Given the description of an element on the screen output the (x, y) to click on. 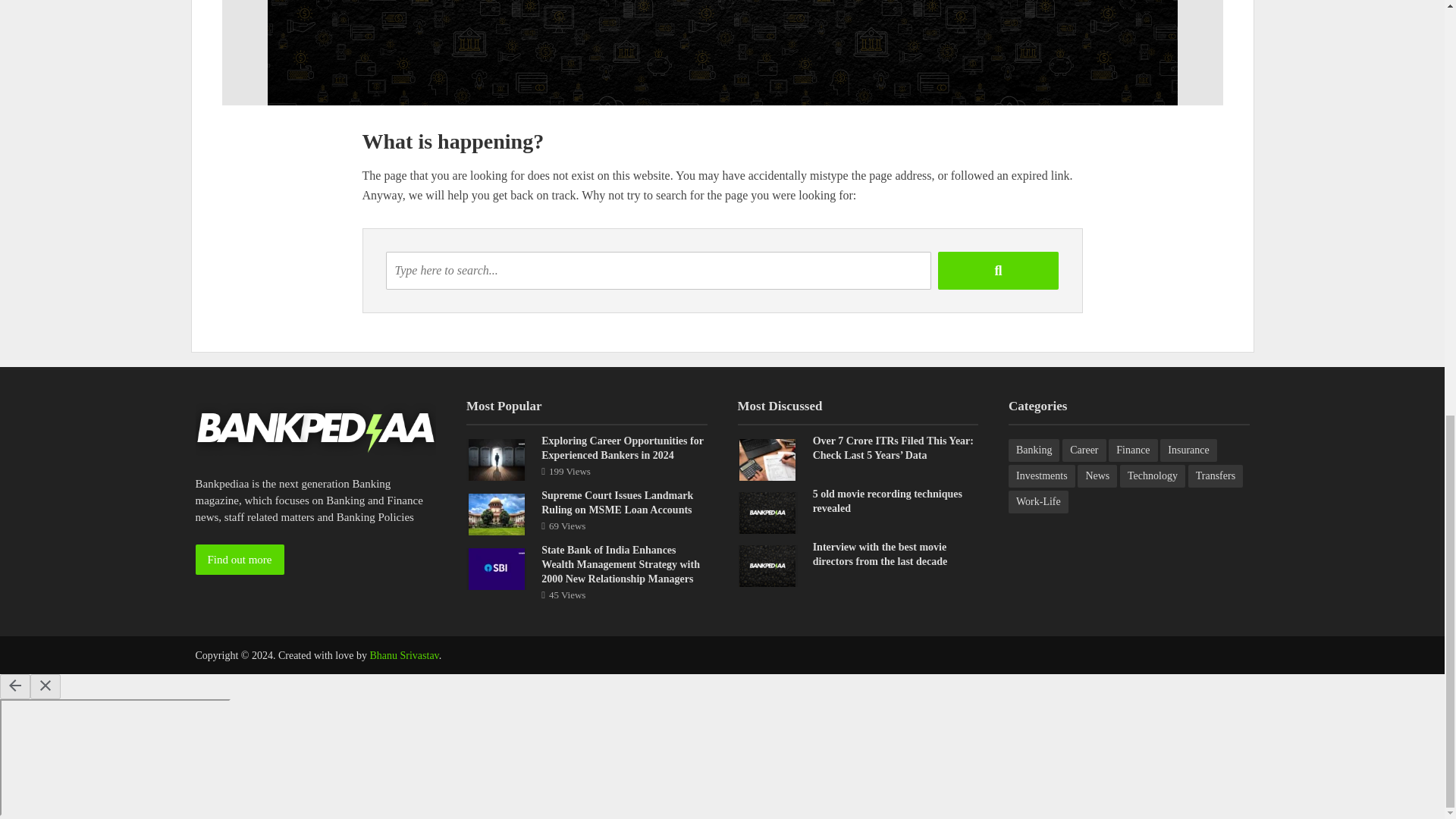
5 old movie recording techniques revealed (766, 511)
Supreme Court Issues Landmark Ruling on MSME Loan Accounts (496, 512)
Interview with the best movie directors from the last decade (766, 564)
